Given the description of an element on the screen output the (x, y) to click on. 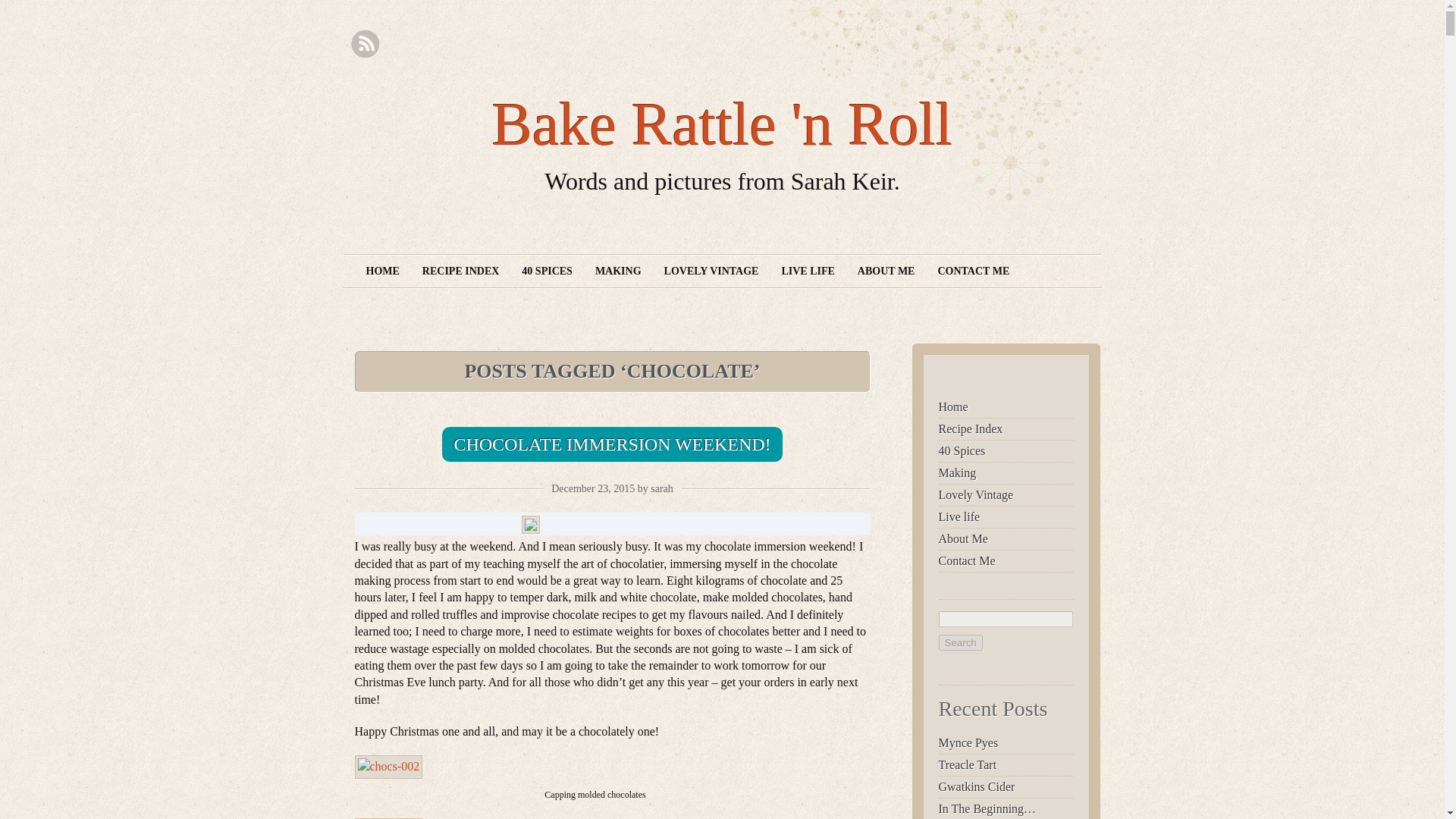
RSS Feed (364, 44)
MAKING (617, 271)
RECIPE INDEX (460, 271)
Bake Rattle 'n Roll (722, 124)
40 SPICES (547, 271)
Bake Rattle 'n Roll (722, 124)
ABOUT ME (885, 271)
CHOCOLATE IMMERSION WEEKEND! (611, 443)
Search (960, 642)
CONTACT ME (973, 271)
